Given the description of an element on the screen output the (x, y) to click on. 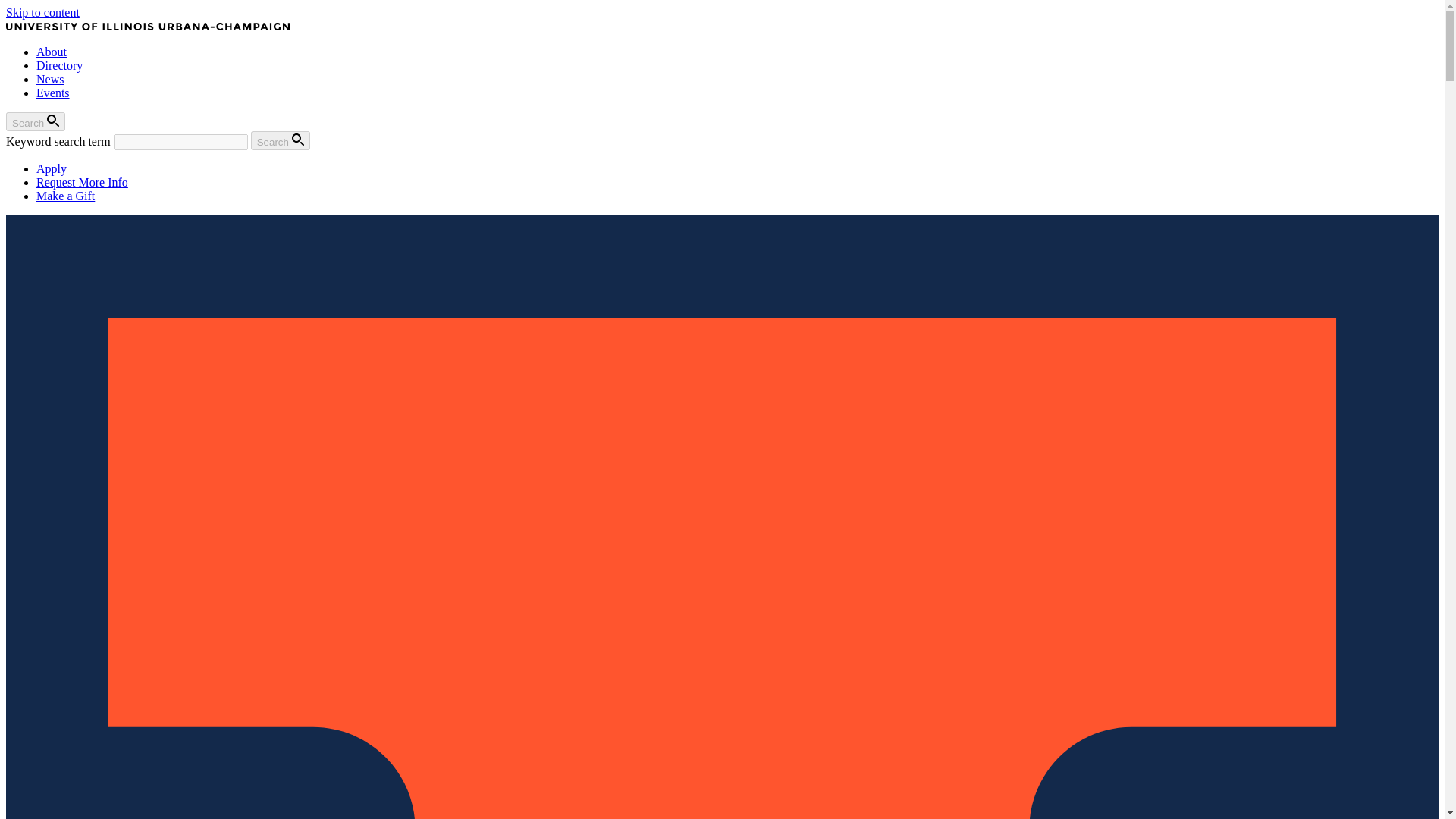
Search (35, 121)
Apply (51, 168)
Events (52, 92)
Request More Info (82, 182)
News (50, 78)
About (51, 51)
Search (280, 140)
Skip to content (42, 11)
Make a Gift (65, 195)
Directory (59, 65)
